Given the description of an element on the screen output the (x, y) to click on. 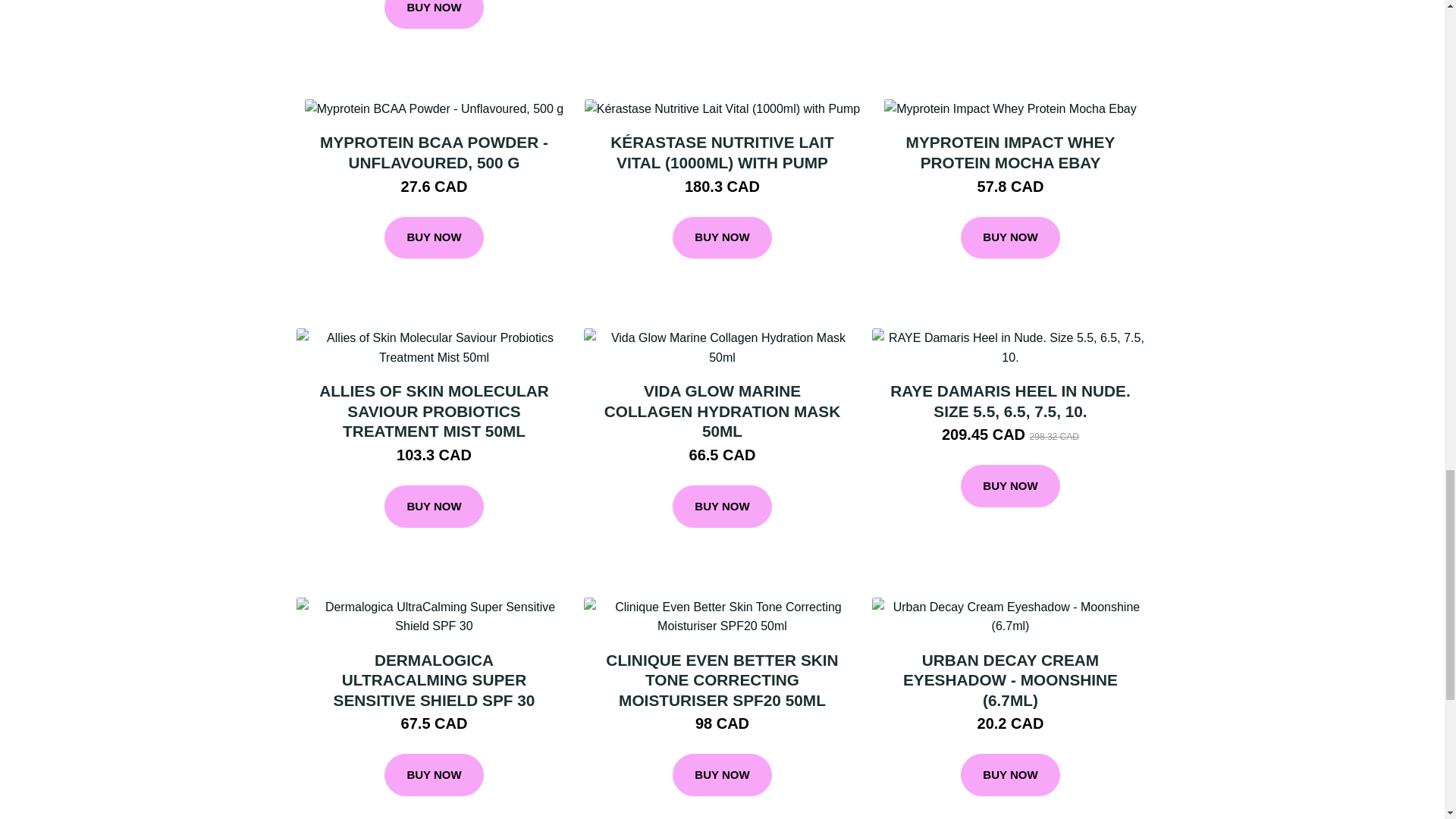
MYPROTEIN BCAA POWDER - UNFLAVOURED, 500 G (434, 152)
BUY NOW (721, 238)
BUY NOW (433, 14)
BUY NOW (433, 238)
